Given the description of an element on the screen output the (x, y) to click on. 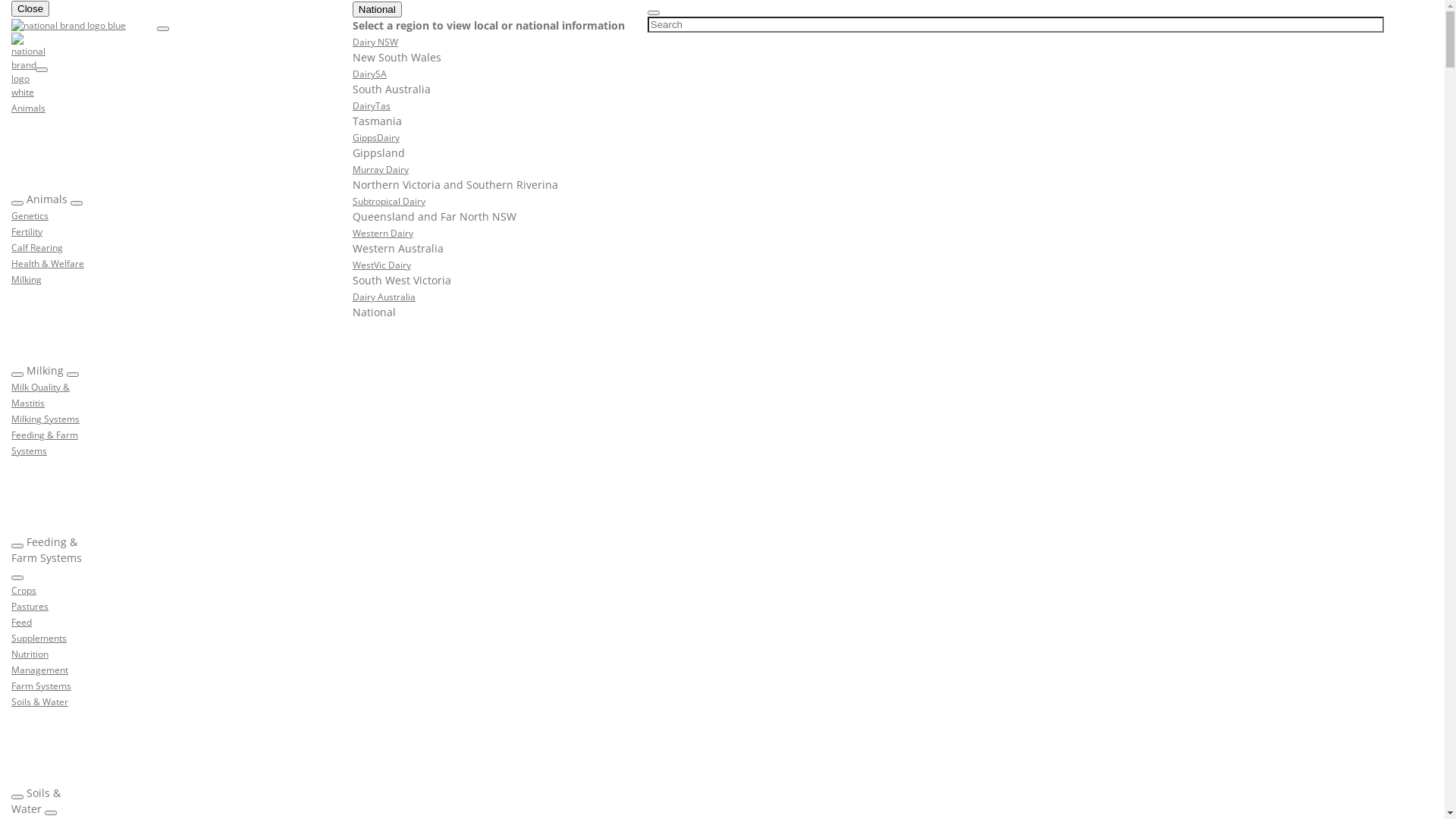
Farm Systems Element type: text (41, 685)
Western Dairy Element type: text (382, 232)
Milking Systems Element type: text (45, 418)
Dairy Australia Element type: text (383, 296)
Calf Rearing Element type: text (36, 247)
WestVic Dairy Element type: text (381, 264)
DairyTas Element type: text (371, 105)
Feeding & Farm Systems Element type: text (44, 442)
Feed Supplements Element type: text (38, 629)
Pastures Element type: text (29, 605)
Genetics Element type: text (29, 215)
Murray Dairy Element type: text (380, 169)
Crops Element type: text (23, 589)
Animals Element type: text (28, 107)
Health & Welfare Element type: text (47, 263)
Subtropical Dairy Element type: text (388, 200)
DairySA Element type: text (369, 73)
GippsDairy Element type: text (375, 137)
Milk Quality & Mastitis Element type: text (40, 394)
Milking Element type: text (26, 279)
Soils & Water Element type: text (39, 701)
Fertility Element type: text (26, 231)
National Element type: text (376, 9)
Close Element type: text (30, 8)
Nutrition Management Element type: text (39, 661)
Dairy NSW Element type: text (375, 41)
